Given the description of an element on the screen output the (x, y) to click on. 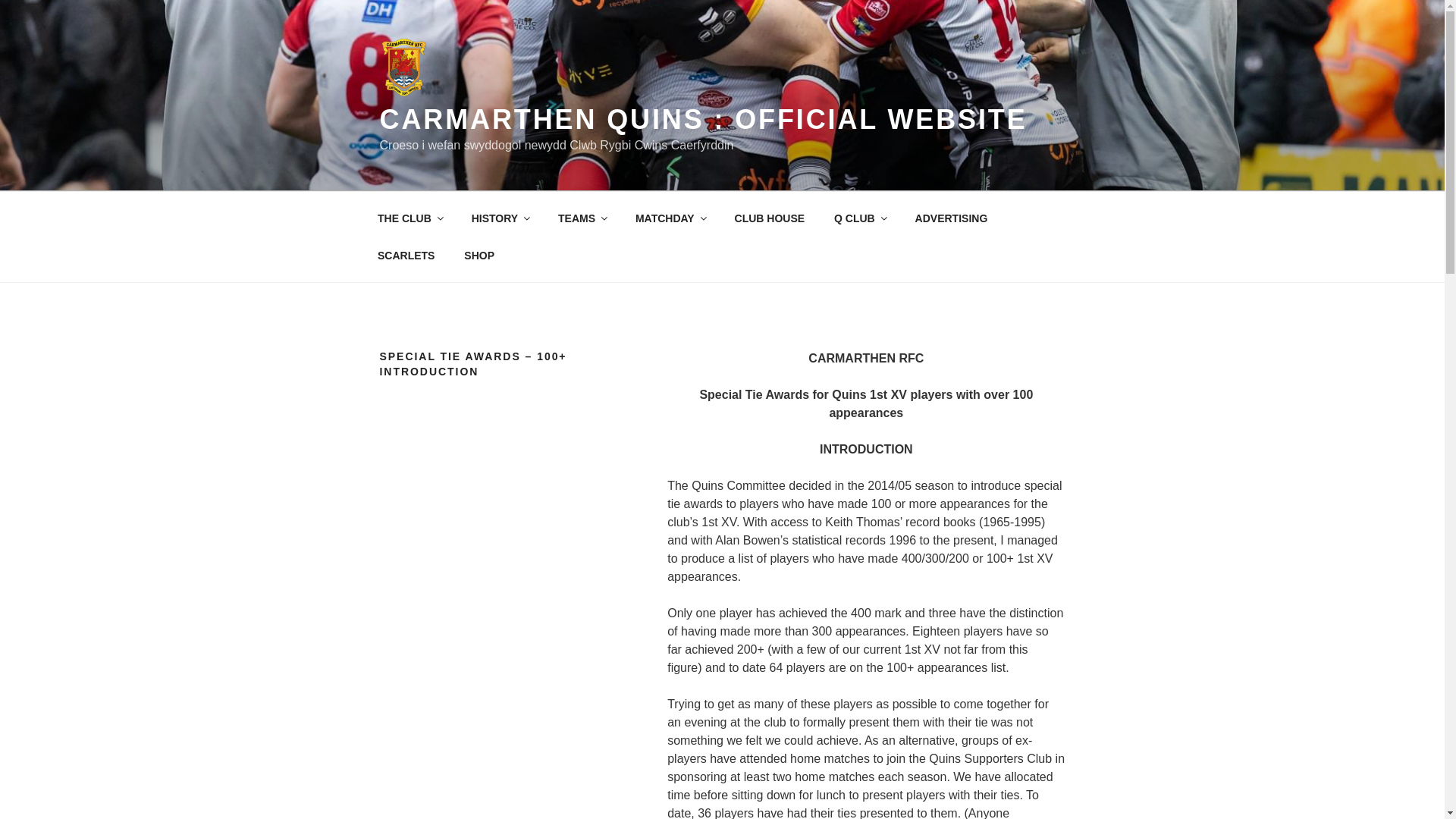
CARMARTHEN QUINS : OFFICIAL WEBSITE (702, 119)
Q CLUB (860, 218)
CLUB HOUSE (769, 218)
MATCHDAY (669, 218)
TEAMS (582, 218)
HISTORY (499, 218)
THE CLUB (409, 218)
